Given the description of an element on the screen output the (x, y) to click on. 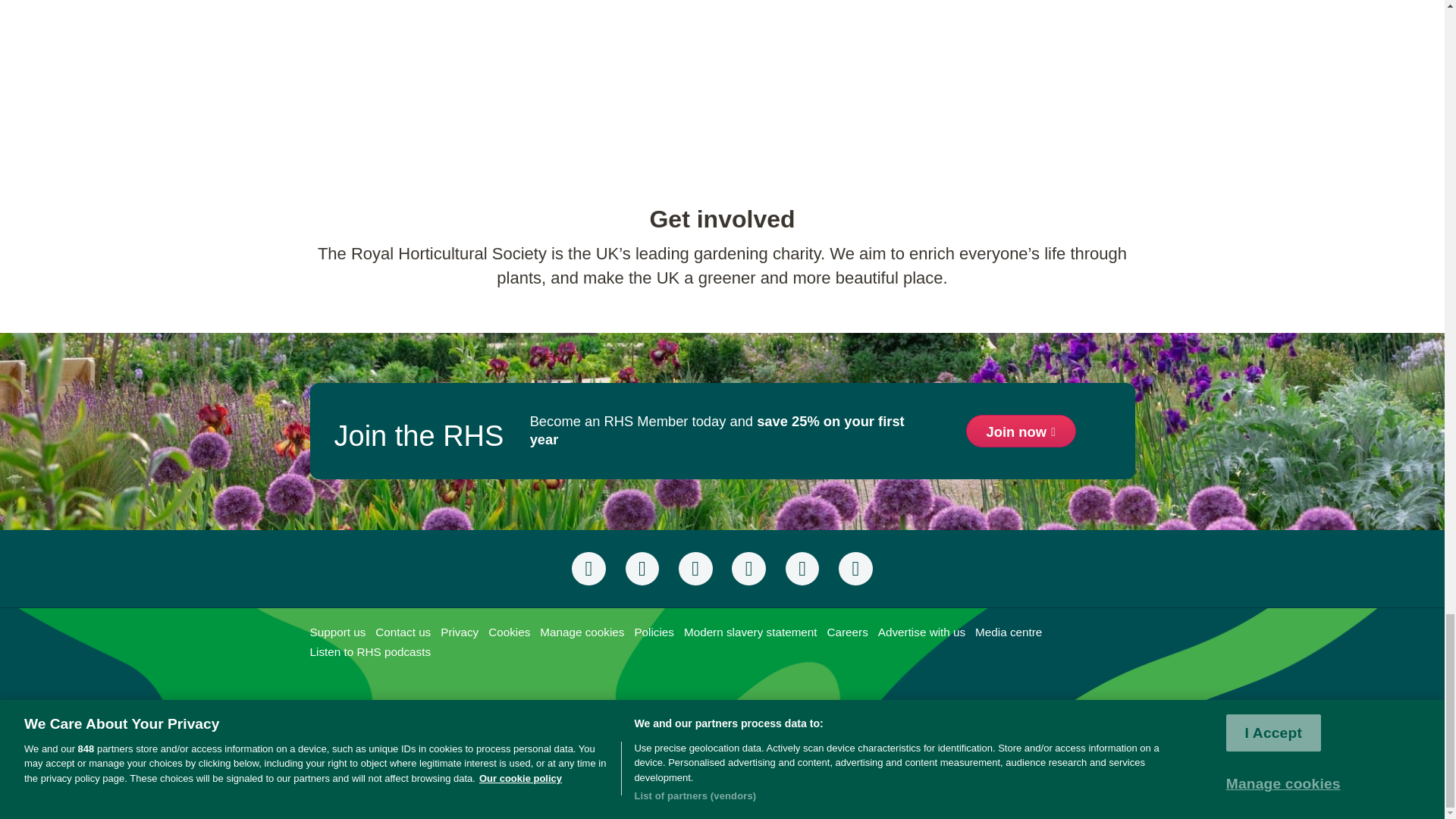
3rd party ad content (721, 724)
